Given the description of an element on the screen output the (x, y) to click on. 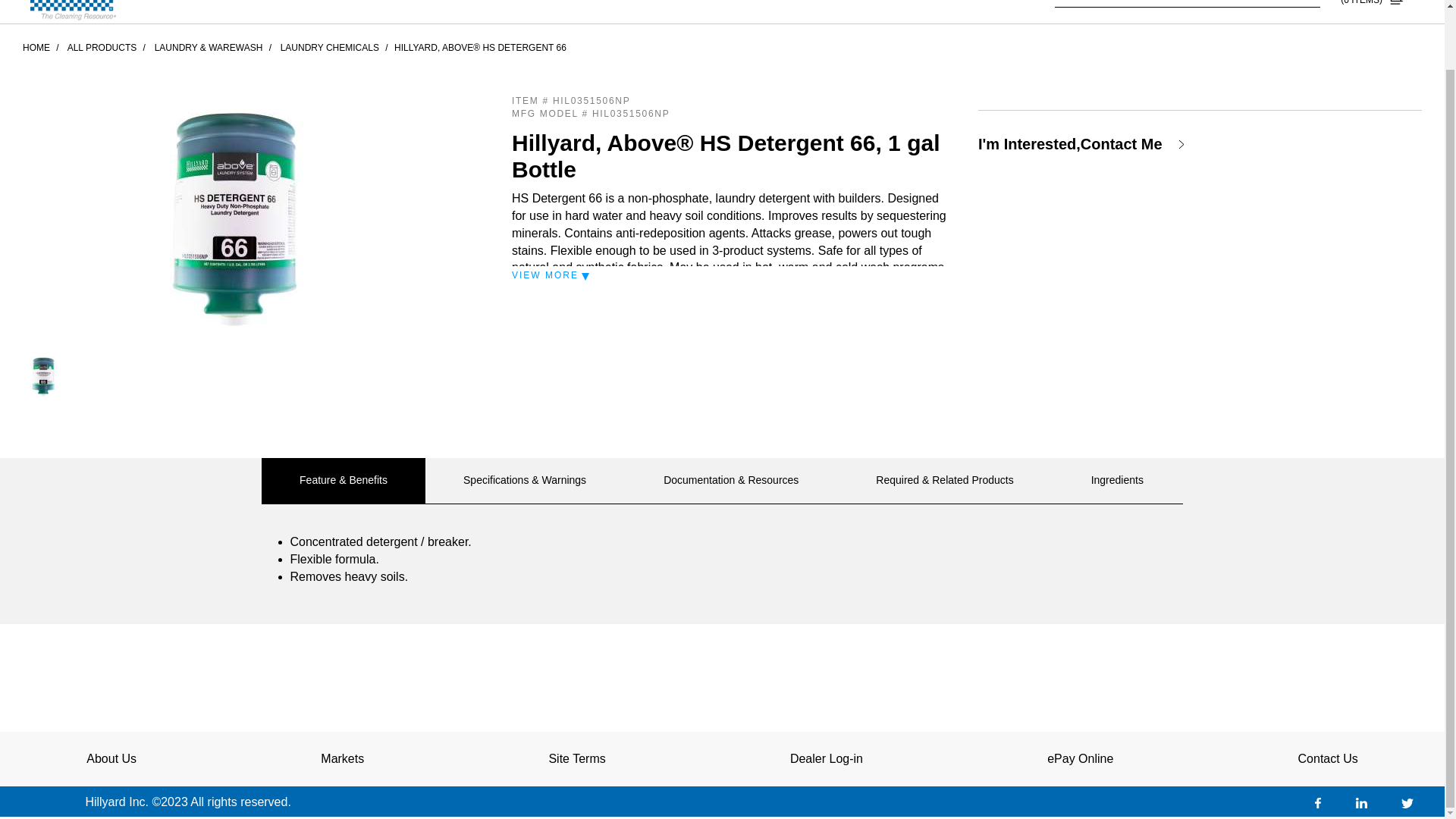
Hillyard The Cleaning Resource (73, 11)
